Given the description of an element on the screen output the (x, y) to click on. 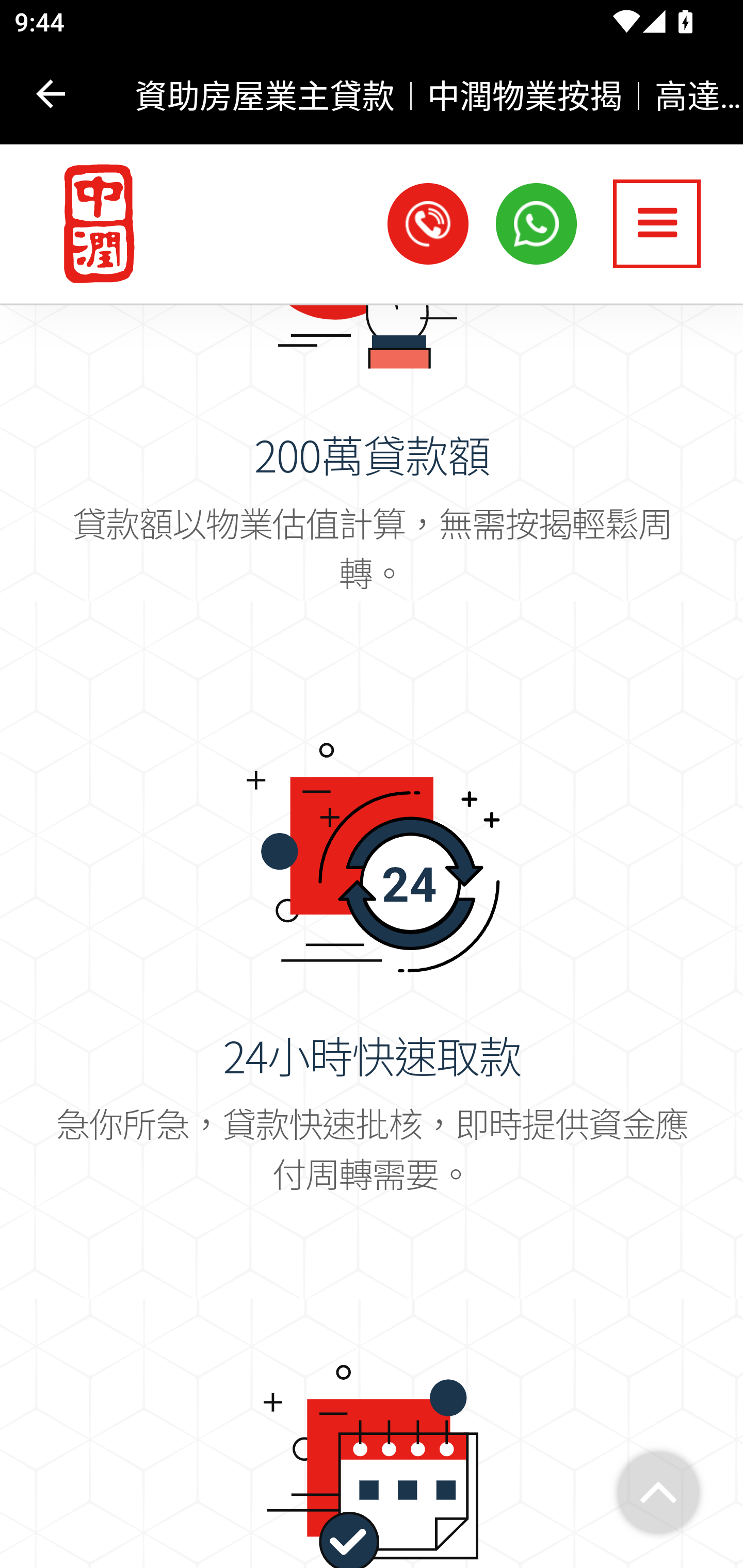
Navigate up (50, 93)
home 中潤物業按揭有限公司 (90, 224)
menu (657, 223)
電話 (427, 222)
whatsapp (536, 222)
TOP (658, 1493)
